Given the description of an element on the screen output the (x, y) to click on. 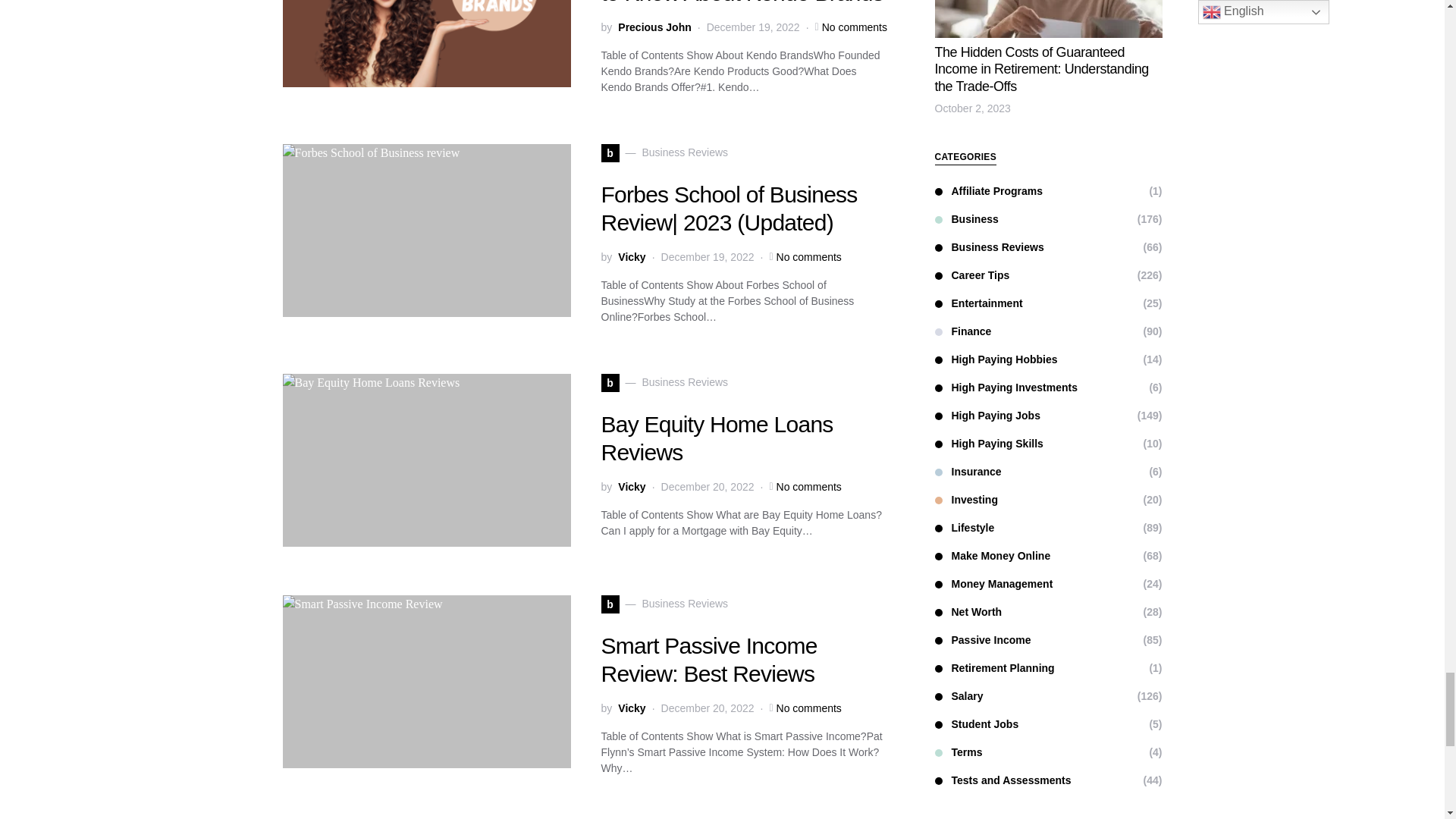
View all posts by Vicky (631, 487)
View all posts by Precious John (653, 27)
View all posts by Vicky (631, 708)
View all posts by Vicky (631, 256)
